Given the description of an element on the screen output the (x, y) to click on. 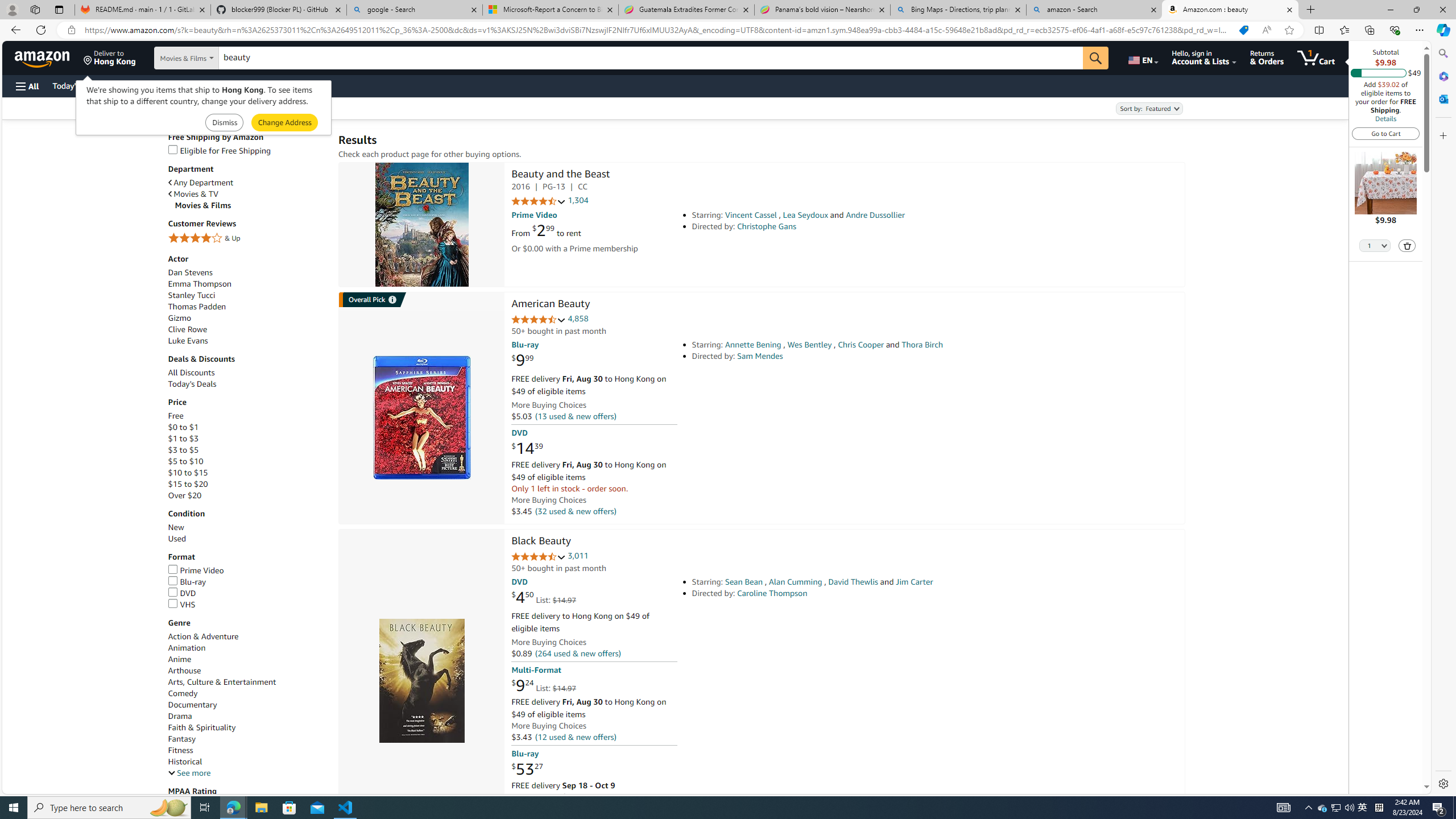
Thomas Padden (247, 307)
Movies & TV (192, 194)
Sort by: (1148, 108)
(12 used & new offers) (574, 736)
Documentary (247, 705)
Luke Evans (247, 340)
